Given the description of an element on the screen output the (x, y) to click on. 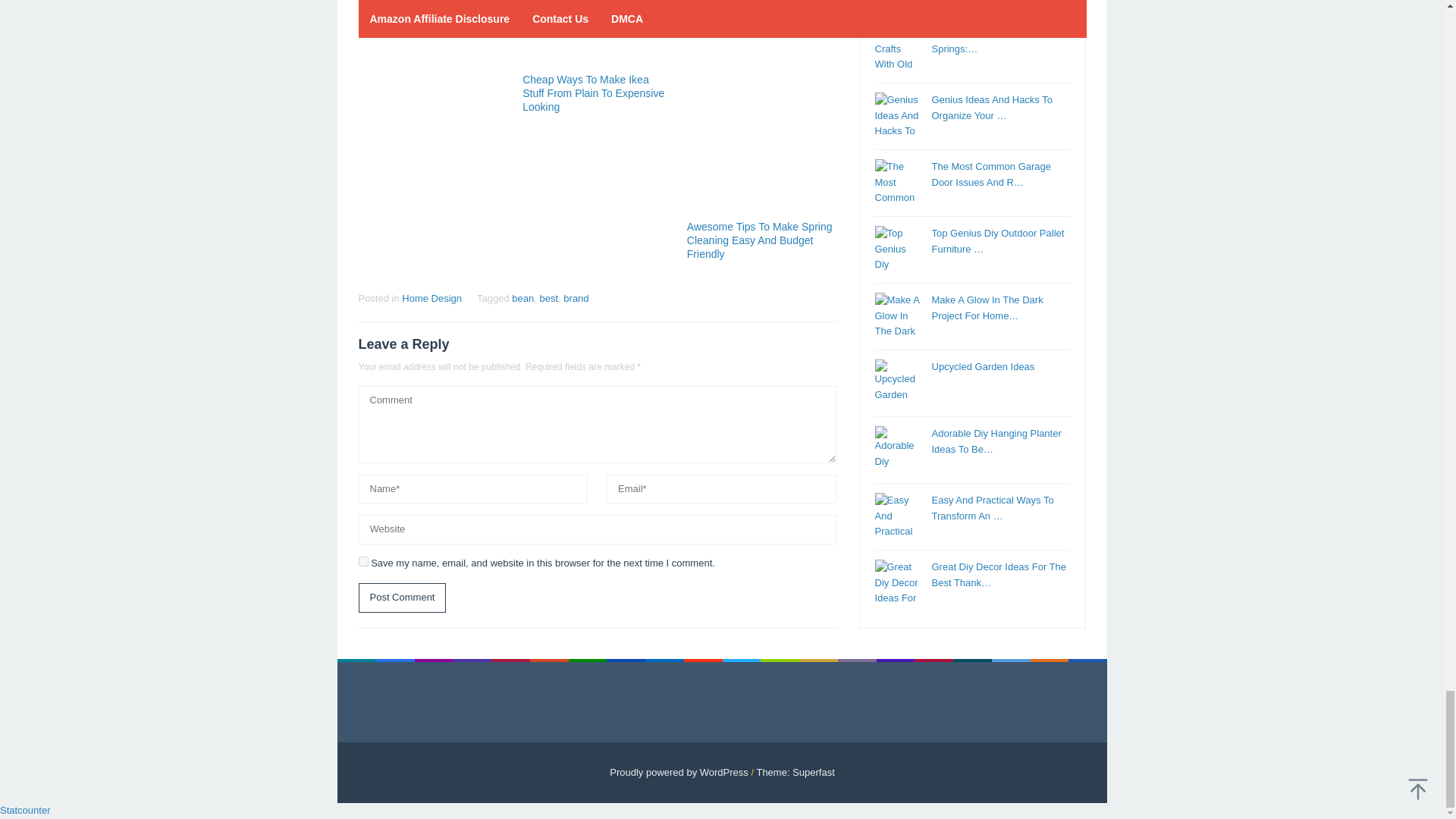
yes (363, 561)
Theme: Superfast (794, 772)
Post Comment (401, 597)
brand (575, 297)
best (549, 297)
Home Design (431, 297)
Statcounter (25, 809)
bean (523, 297)
Post Comment (401, 597)
